Given the description of an element on the screen output the (x, y) to click on. 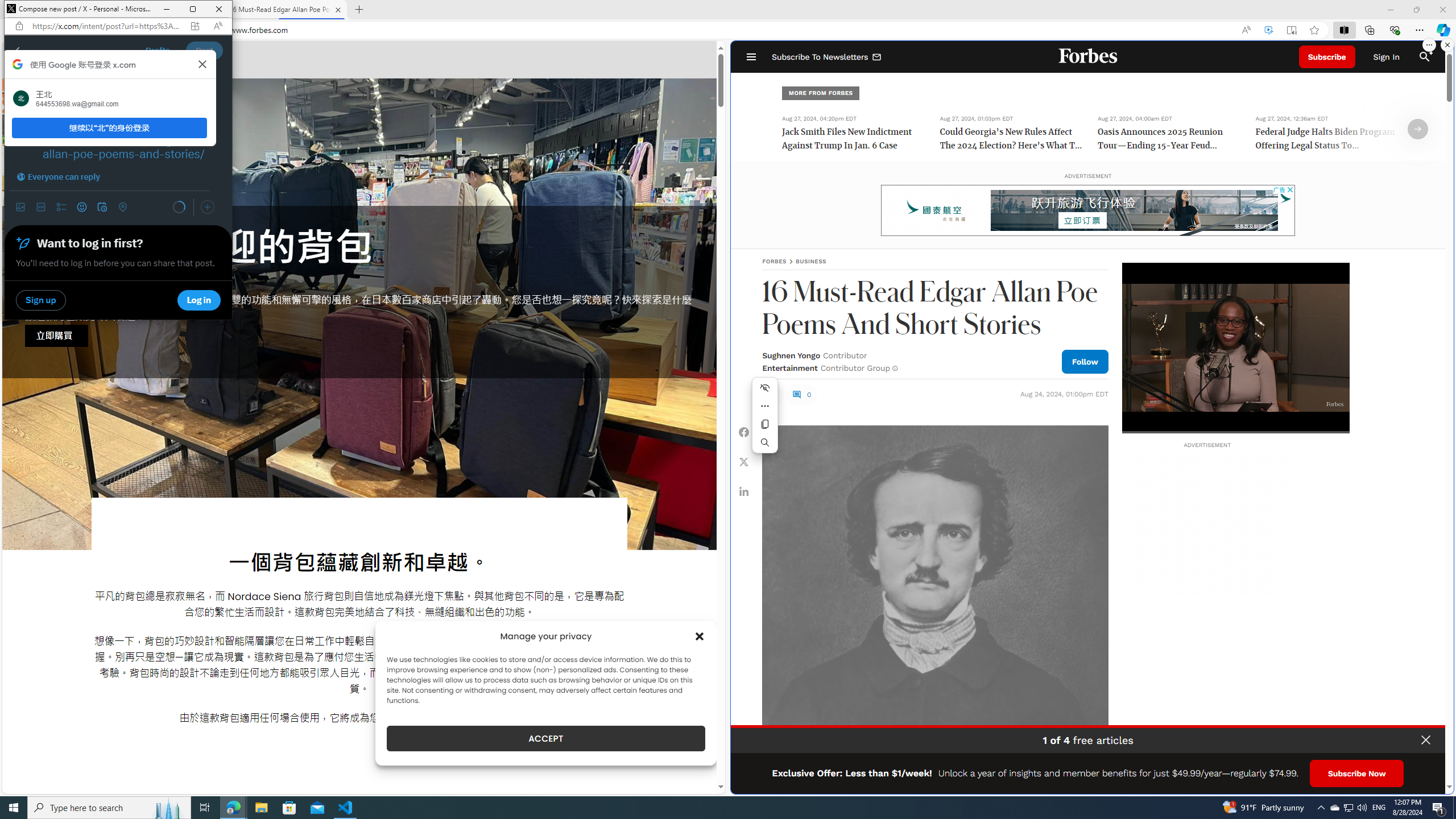
Enter Immersive Reader (F9) (1291, 29)
Maximize (192, 9)
Sign In (1386, 56)
Hide menu (764, 387)
Share Linkedin (743, 490)
Subscribe Now (1356, 773)
Sughnen Yongo (790, 354)
Enhance video (1268, 29)
Close split screen. (1447, 45)
